Given the description of an element on the screen output the (x, y) to click on. 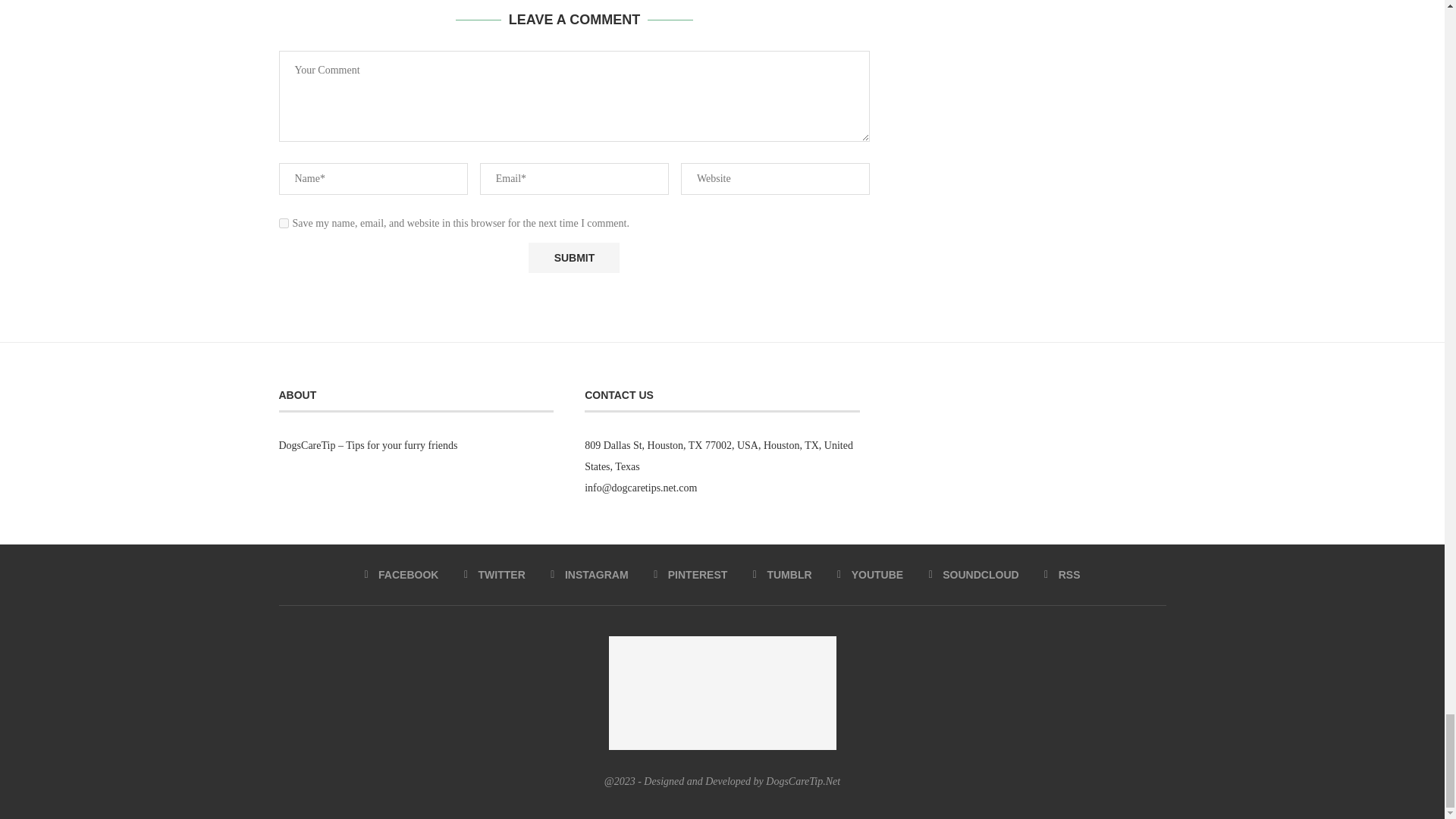
yes (283, 223)
Submit (574, 257)
